Given the description of an element on the screen output the (x, y) to click on. 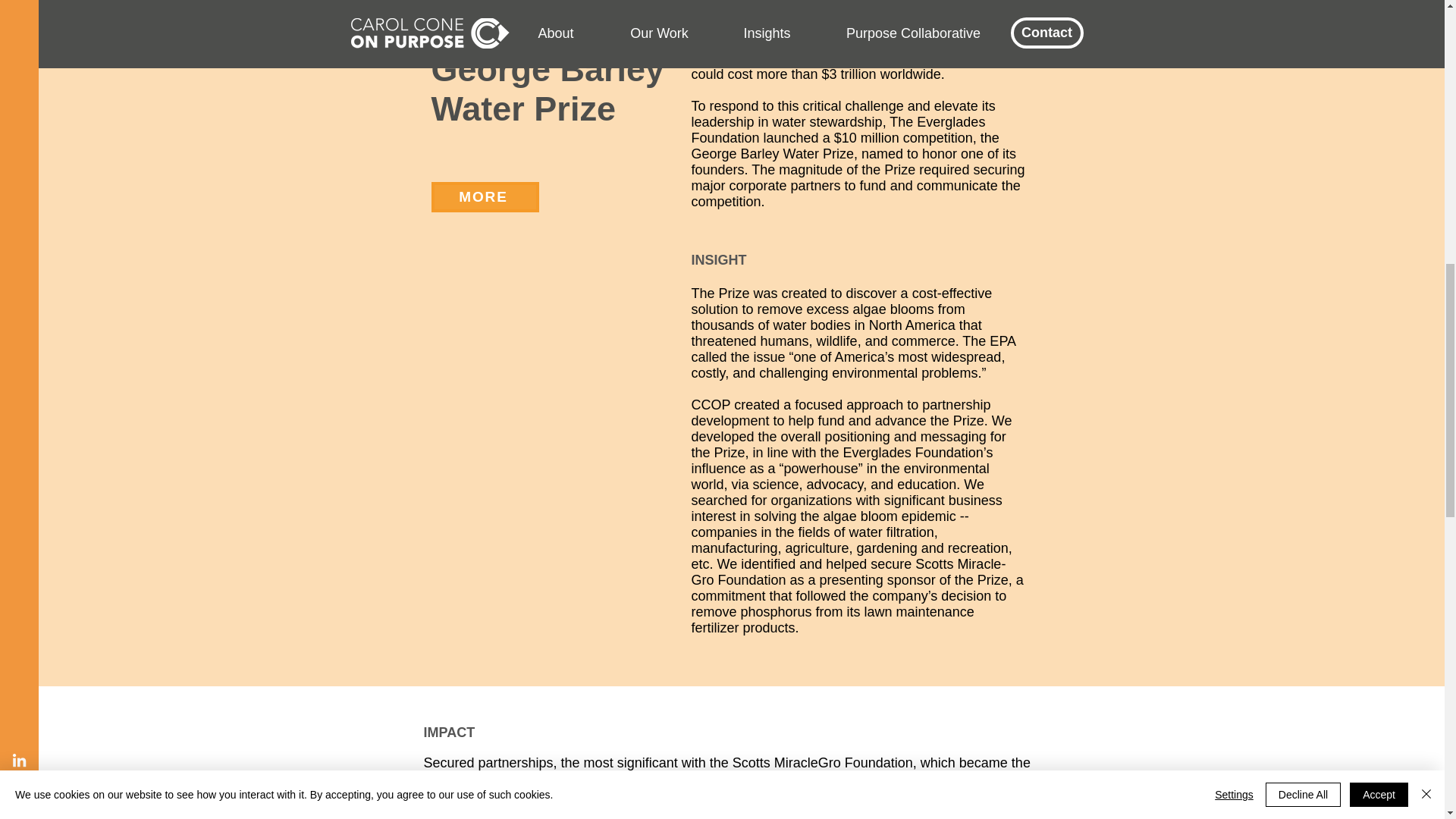
MORE (484, 196)
